Given the description of an element on the screen output the (x, y) to click on. 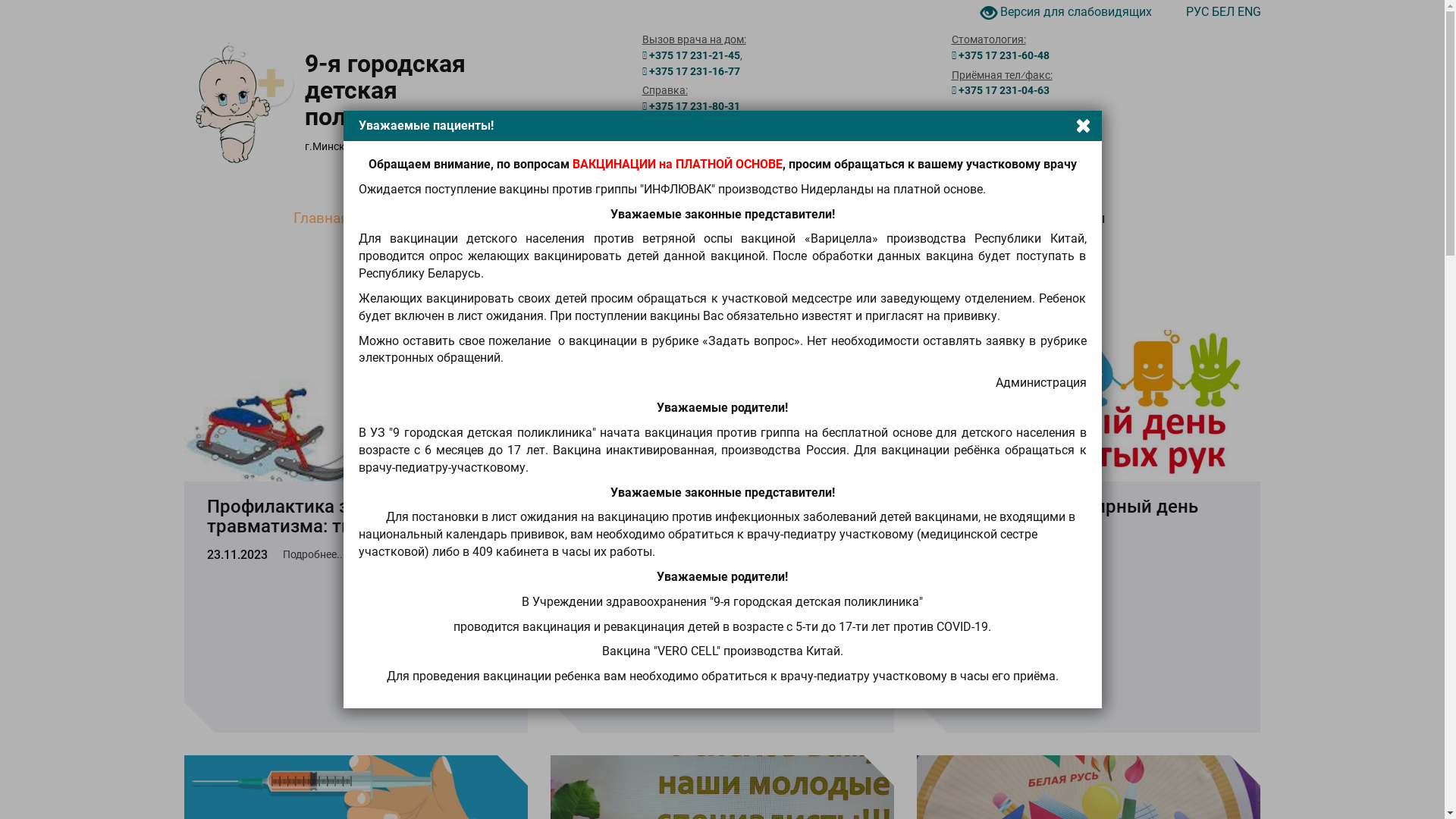
ENG Element type: text (1249, 11)
